Given the description of an element on the screen output the (x, y) to click on. 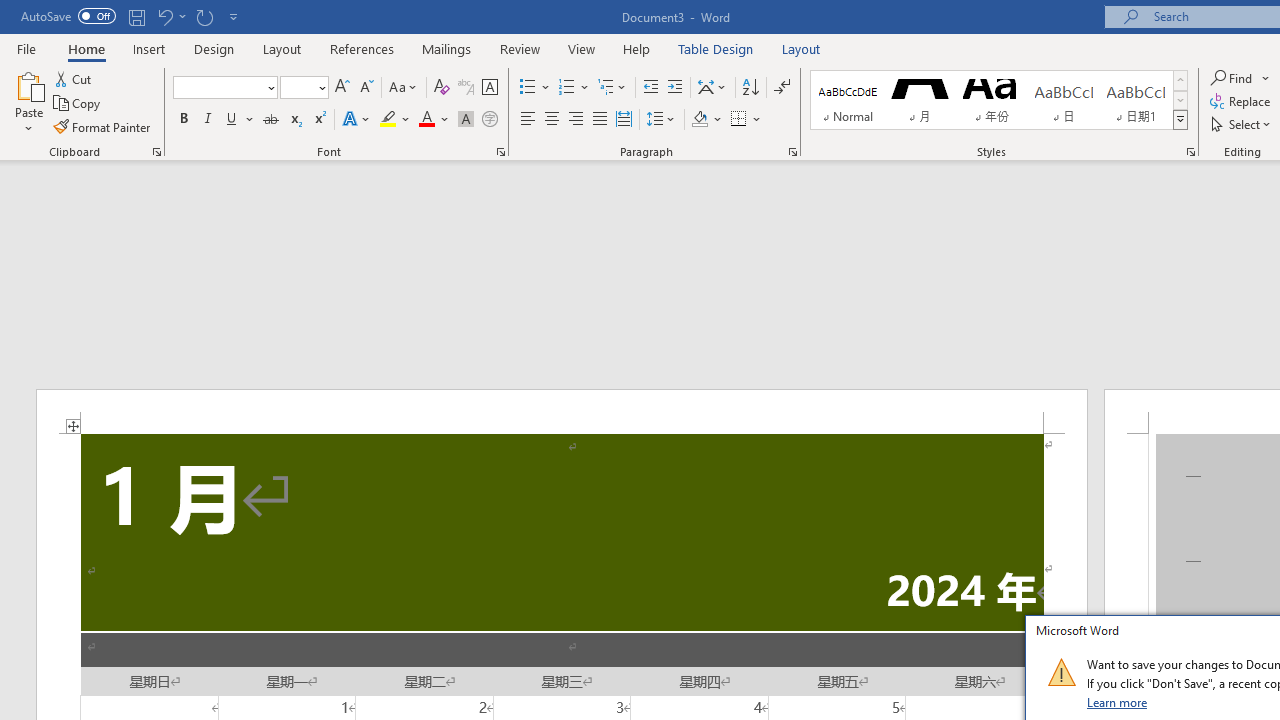
Header -Section 1- (561, 411)
Character Shading (465, 119)
Font... (500, 151)
AutomationID: QuickStylesGallery (999, 99)
Learn more (1118, 702)
Show/Hide Editing Marks (781, 87)
Phonetic Guide... (465, 87)
Replace... (1242, 101)
Sort... (750, 87)
Copy (78, 103)
